Given the description of an element on the screen output the (x, y) to click on. 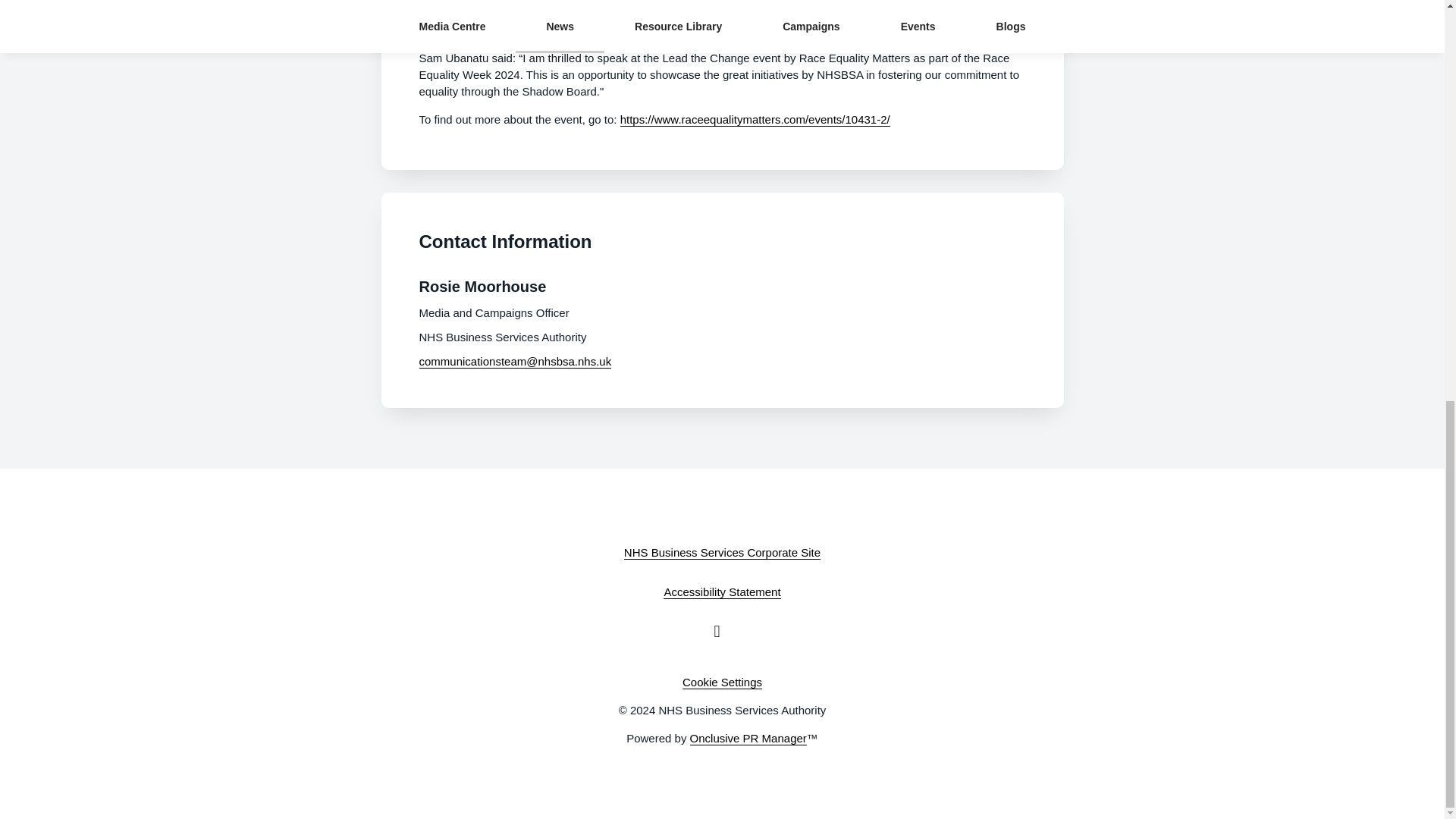
Cookie Settings (1232, 61)
Accessibility Statement (721, 591)
Twitter (722, 631)
Accept all cookies (1343, 61)
Onclusive PR Manager (748, 738)
NHS Business Services Corporate Site (722, 552)
Accessibility Statement (721, 591)
NHS Business Services Corporate Site (722, 552)
Cookie Settings (721, 682)
